Given the description of an element on the screen output the (x, y) to click on. 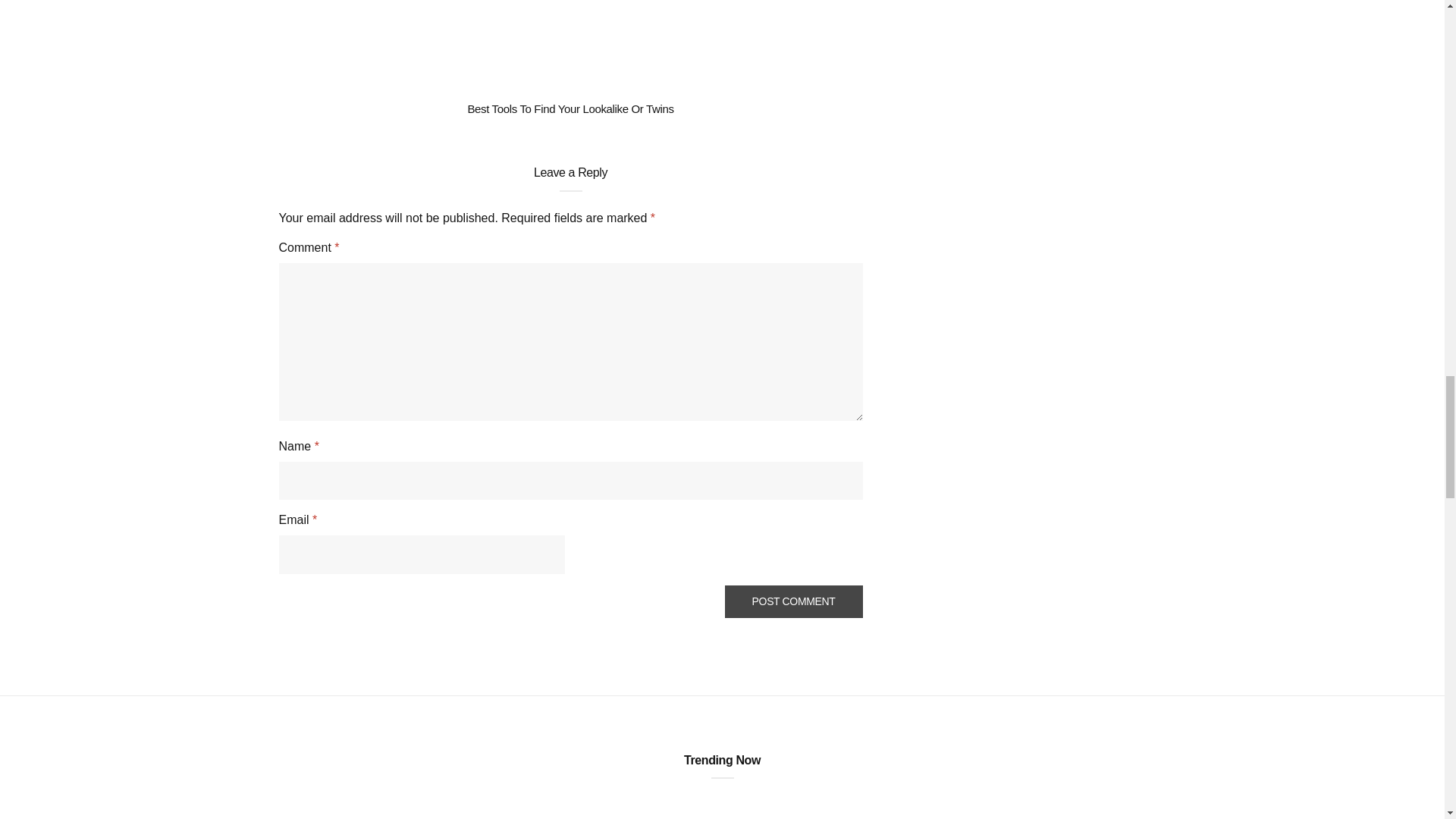
Best Tools To Find Your Lookalike Or Twins (569, 108)
Post Comment (794, 601)
Post Comment (794, 601)
